Given the description of an element on the screen output the (x, y) to click on. 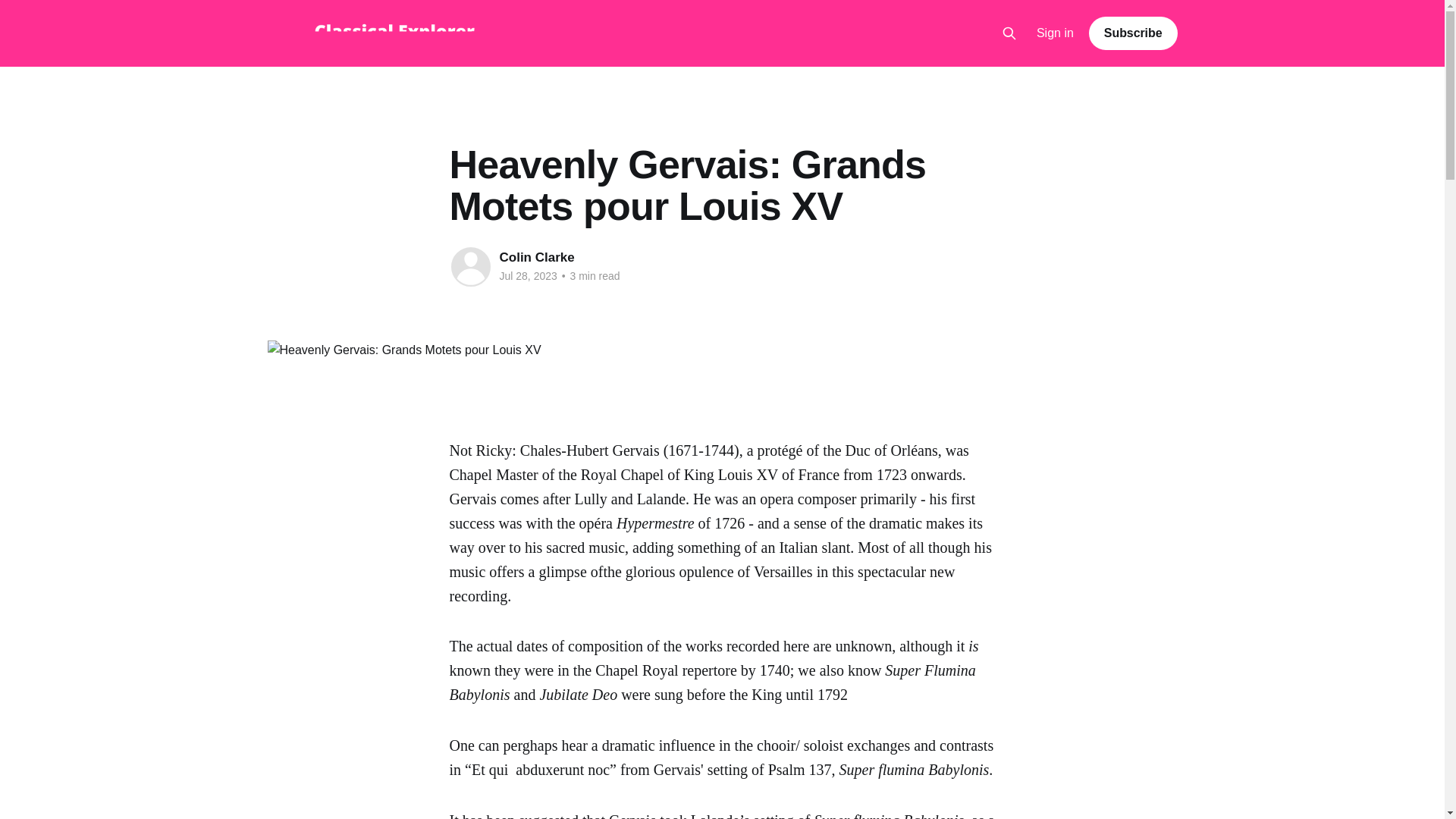
Colin Clarke (536, 257)
Subscribe (1133, 32)
Sign in (1055, 33)
